Given the description of an element on the screen output the (x, y) to click on. 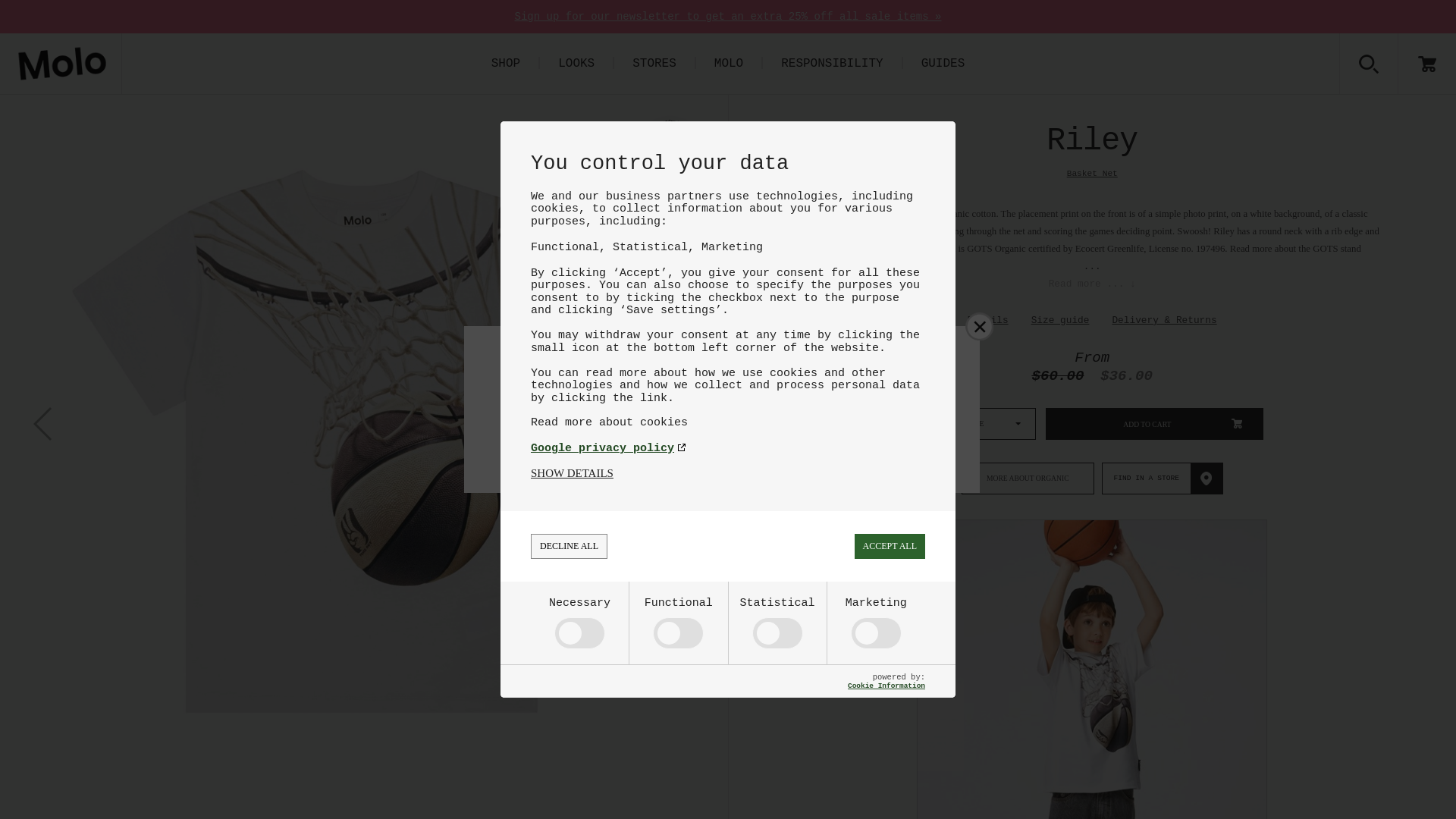
SHOW DETAILS (571, 472)
ACCEPT ALL (889, 545)
Google privacy policy (727, 448)
DECLINE ALL (569, 545)
Read more about cookies (727, 422)
